Given the description of an element on the screen output the (x, y) to click on. 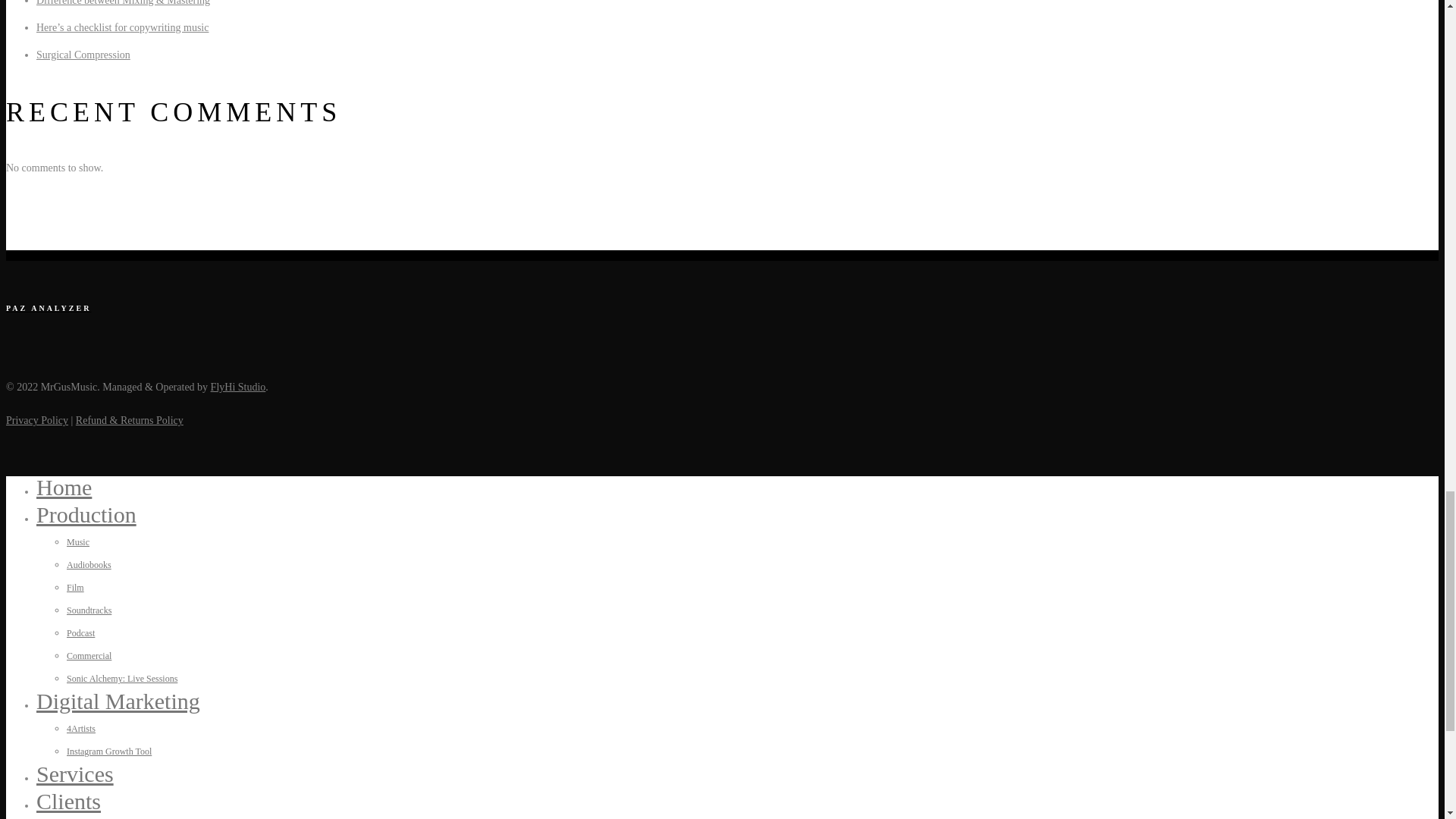
Film (75, 587)
Music (77, 542)
Audiobooks (89, 564)
Production (86, 514)
FlyHi Studio (238, 387)
Surgical Compression (83, 54)
Privacy Policy (36, 419)
Home (63, 487)
